Given the description of an element on the screen output the (x, y) to click on. 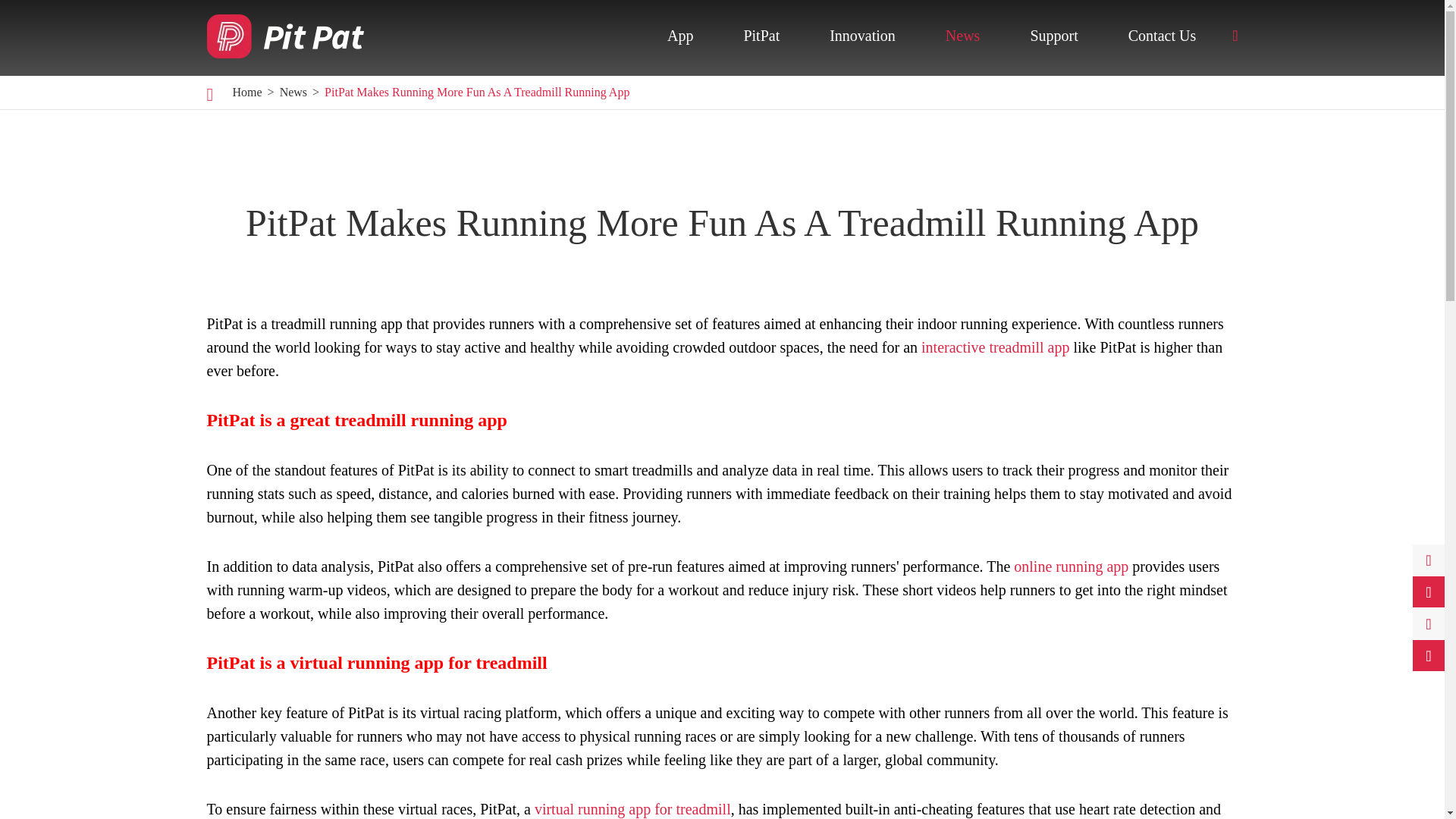
News (293, 91)
PitPat Makes Running More Fun As A Treadmill Running App (476, 91)
Innovation (862, 35)
For Competition (897, 87)
App (679, 35)
Support (1053, 35)
Contact Us (1161, 35)
JOYFIT INC. (284, 35)
News (961, 35)
Sales Office (1097, 87)
